Given the description of an element on the screen output the (x, y) to click on. 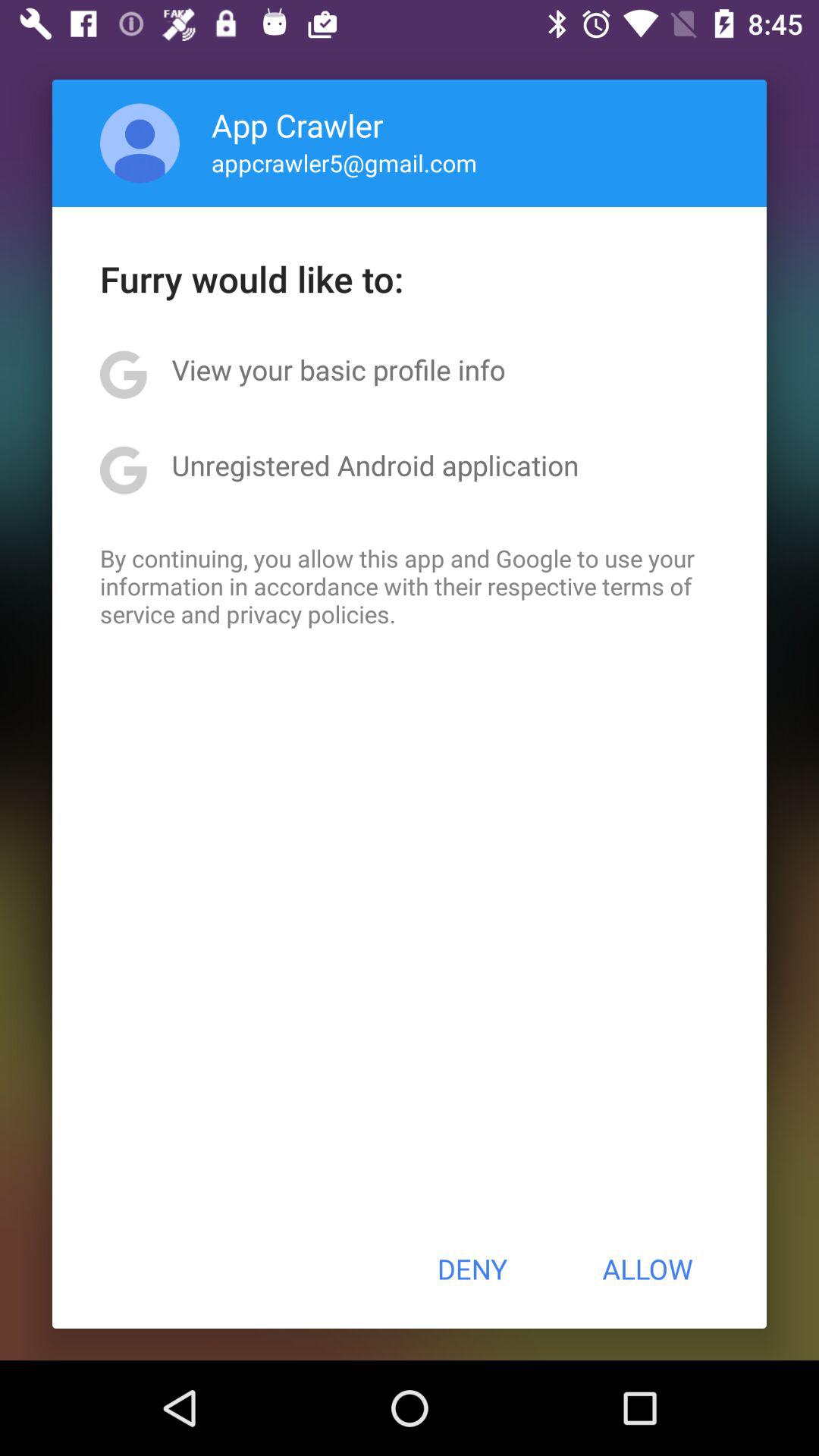
open app above unregistered android application app (338, 369)
